Given the description of an element on the screen output the (x, y) to click on. 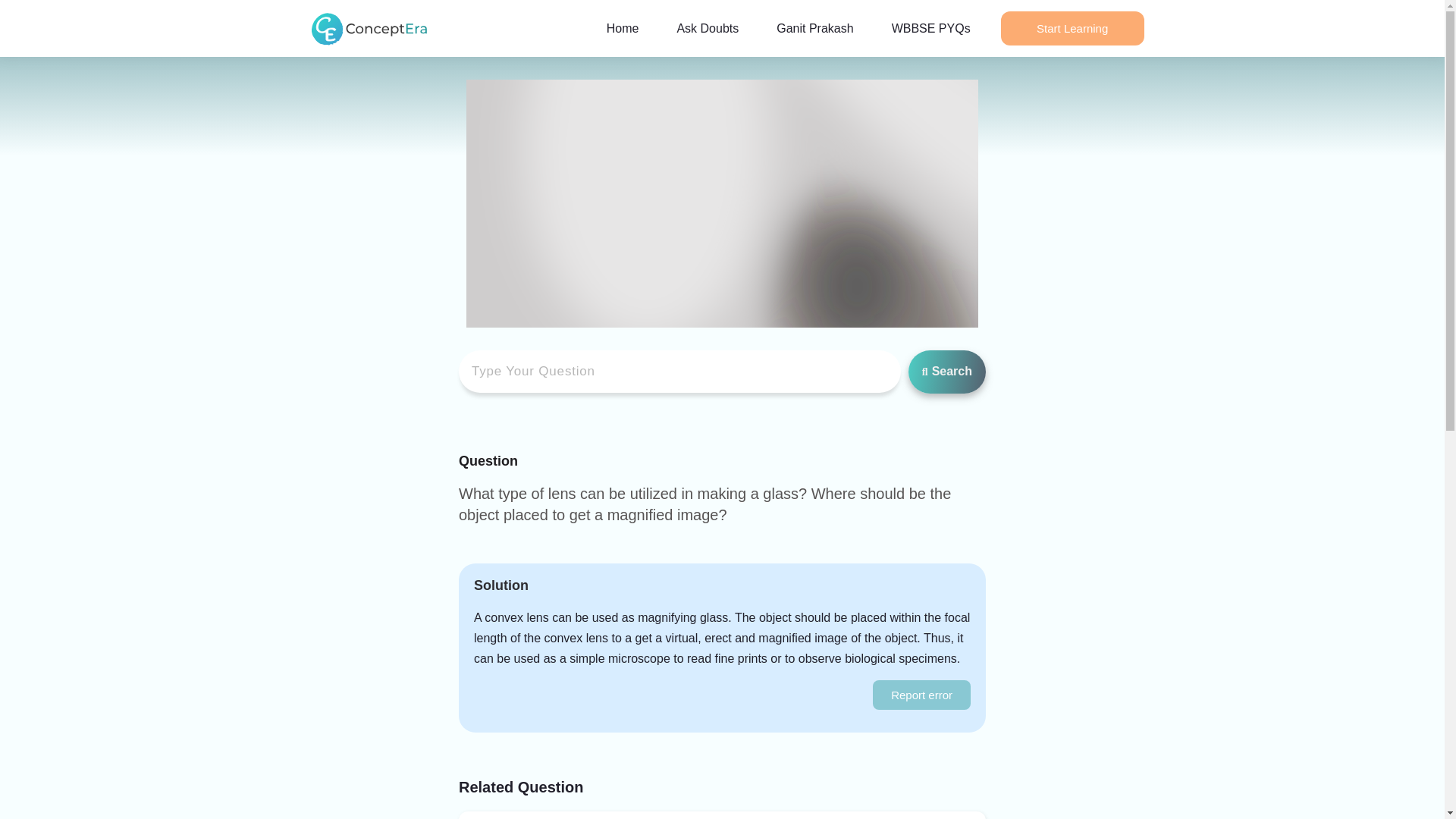
Ask Doubts (707, 27)
Skip to content (11, 31)
Search (946, 371)
Start Learning (1072, 28)
Home (622, 27)
WBBSE PYQs (930, 27)
Ganit Prakash (814, 27)
Report error (921, 695)
